Given the description of an element on the screen output the (x, y) to click on. 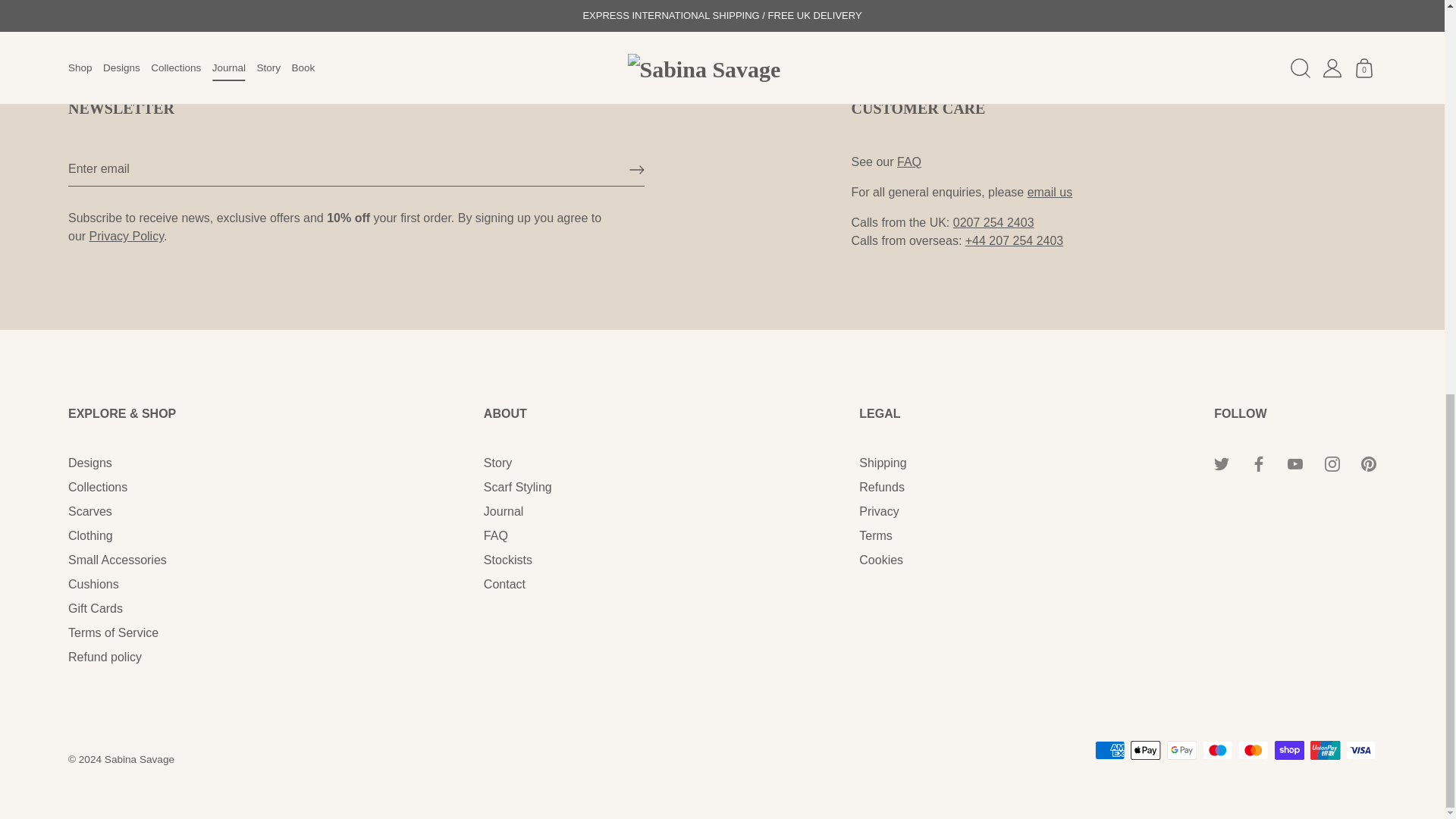
Google Pay (1181, 750)
tel:0207 254 2403 (993, 222)
Maestro (1217, 750)
Instagram (1331, 463)
FAQ (908, 161)
American Express (1109, 750)
RIGHT ARROW LONG (636, 169)
Twitter (1221, 463)
Mastercard (1253, 750)
Contact (1050, 192)
